Given the description of an element on the screen output the (x, y) to click on. 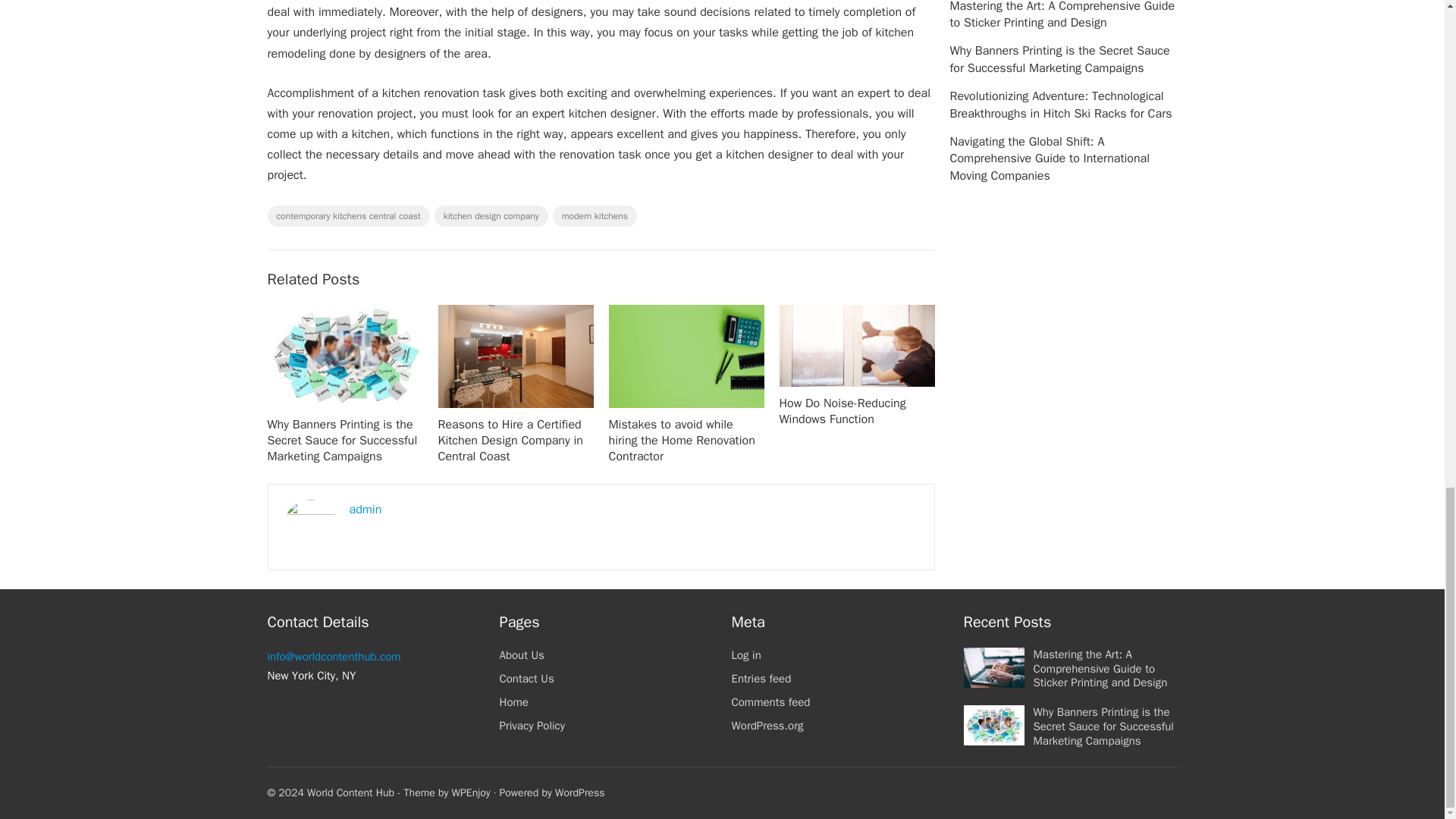
admin (365, 509)
kitchen design company (490, 215)
modern kitchens (595, 215)
contemporary kitchens central coast (347, 215)
How Do Noise-Reducing Windows Function (841, 410)
